Given the description of an element on the screen output the (x, y) to click on. 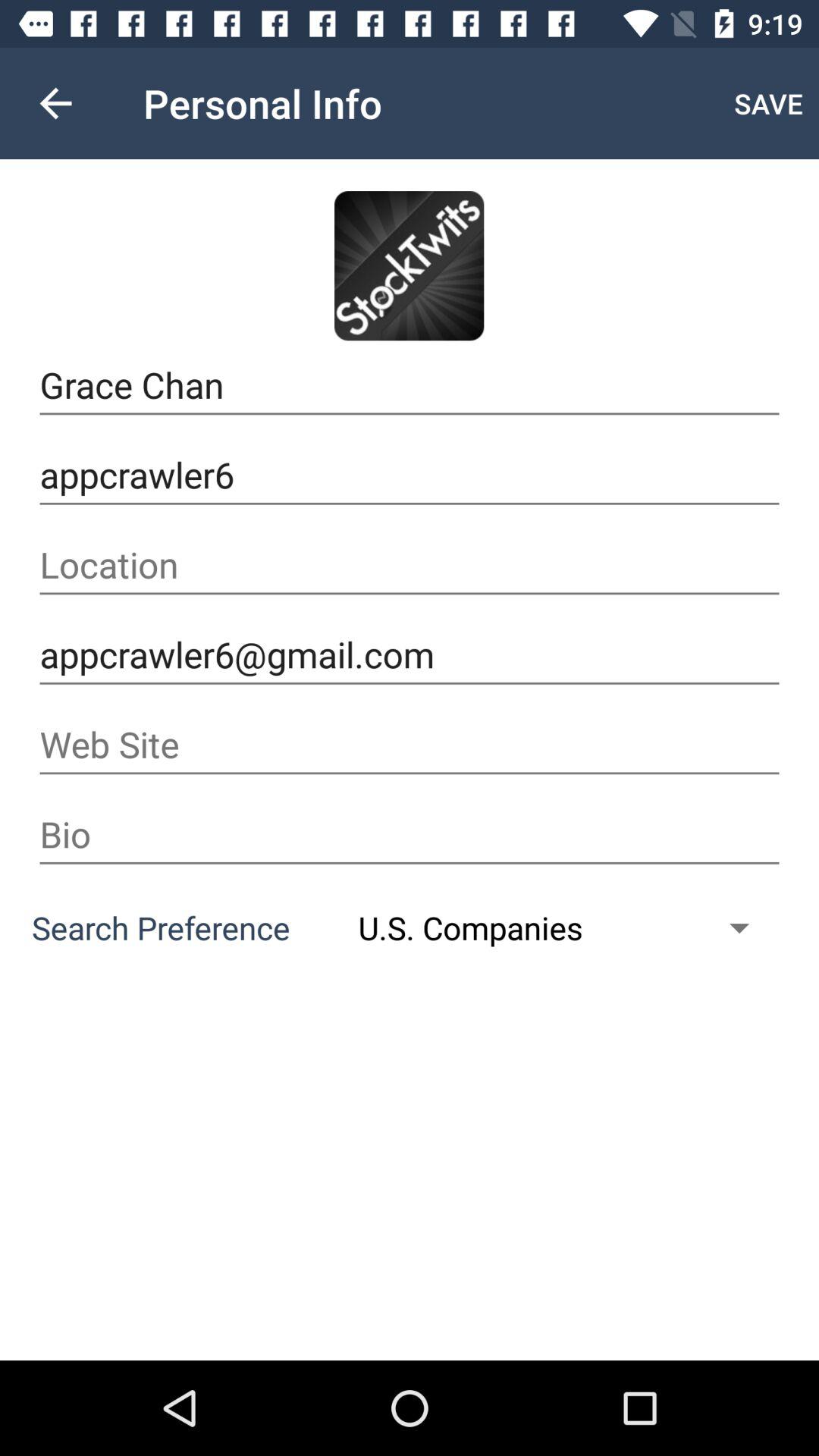
press item above appcrawler6 item (409, 385)
